Given the description of an element on the screen output the (x, y) to click on. 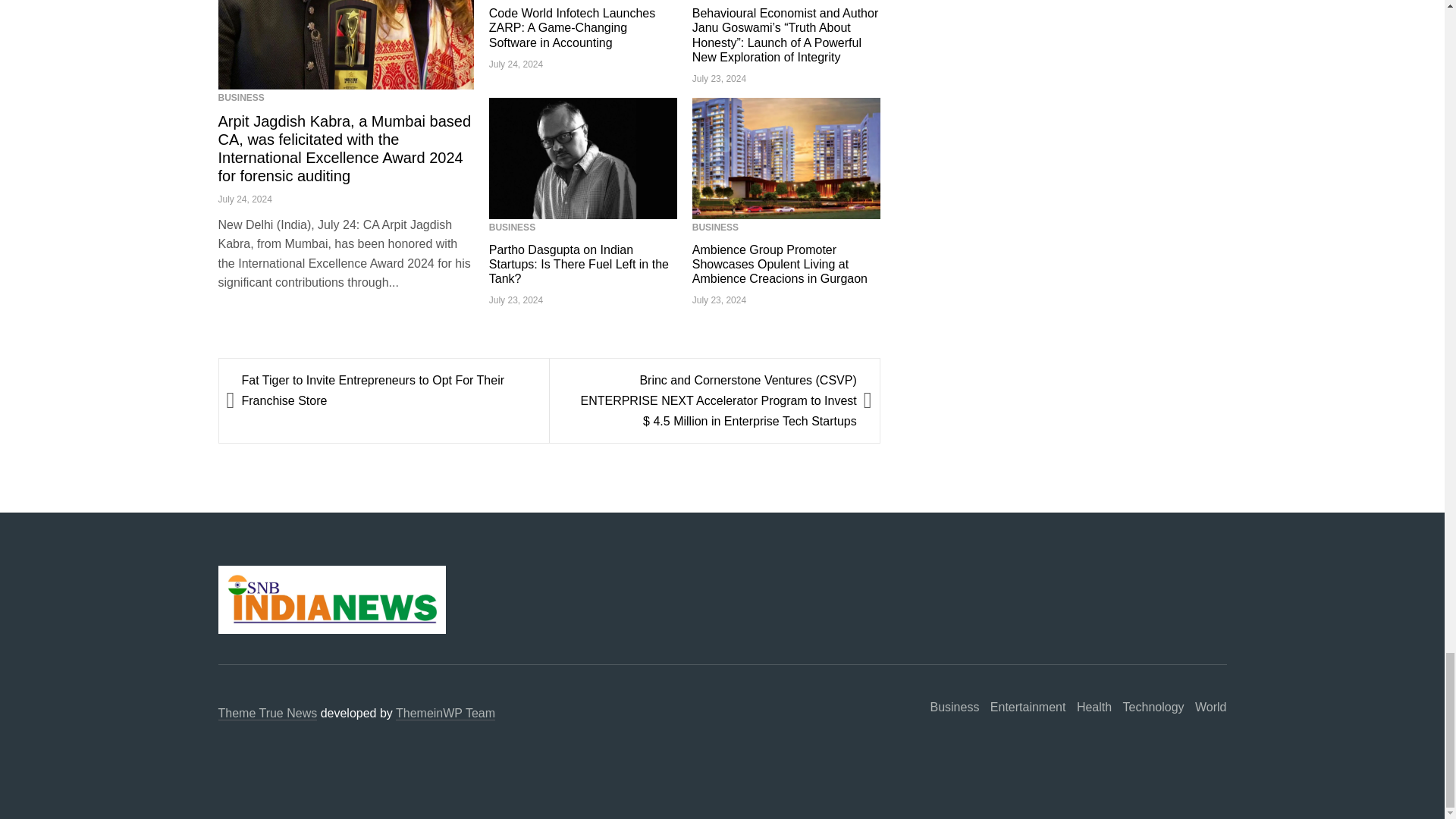
July 24, 2024 (245, 199)
BUSINESS (715, 226)
BUSINESS (241, 97)
BUSINESS (512, 226)
July 23, 2024 (516, 299)
July 23, 2024 (719, 78)
